Given the description of an element on the screen output the (x, y) to click on. 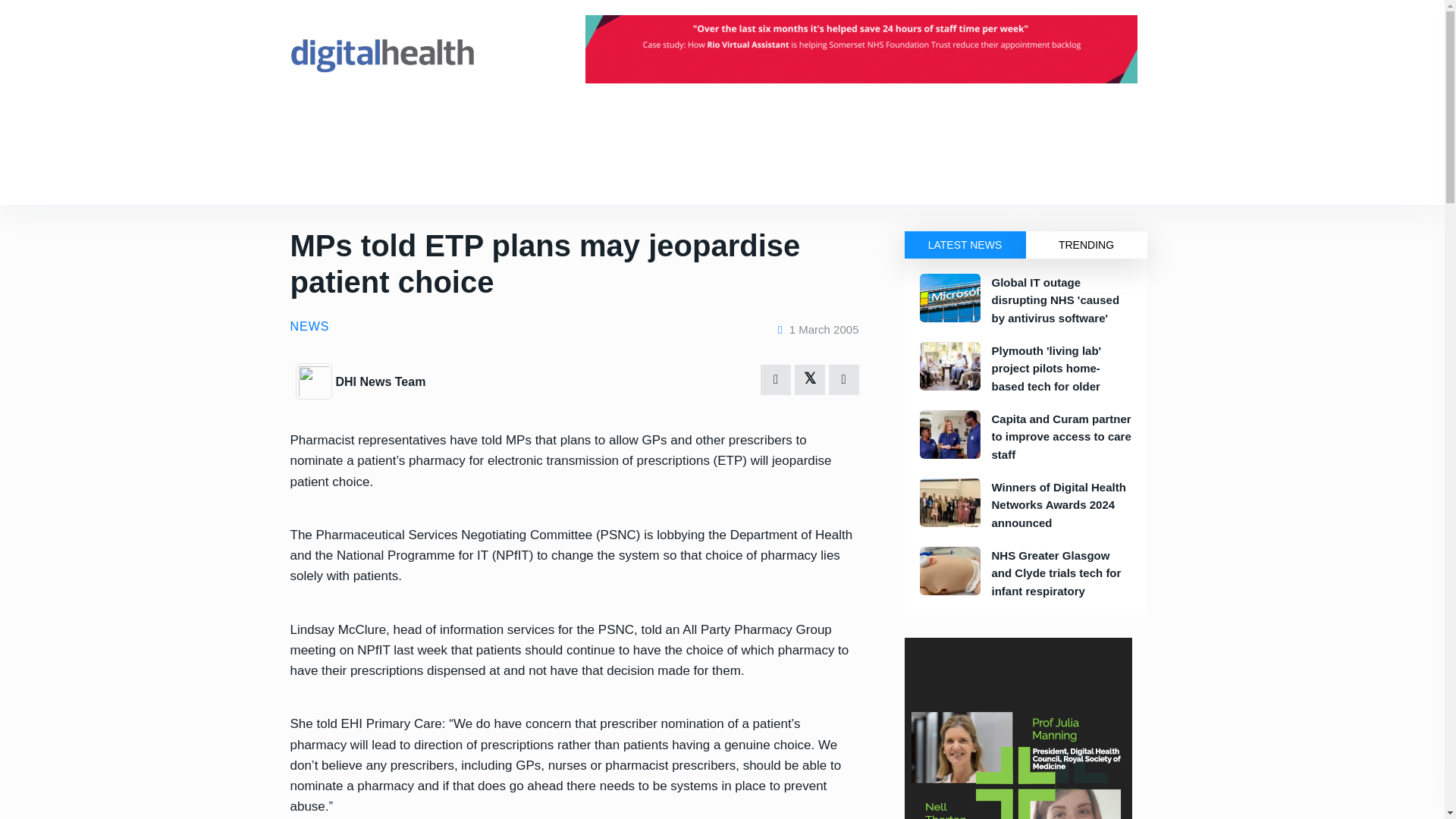
Intelligence (454, 124)
Events (390, 124)
Case Studies (431, 177)
Podcast (502, 177)
Networks (526, 124)
News (339, 124)
About Us (593, 124)
DHI News Team (379, 381)
Webinars (658, 177)
Special Reports (578, 177)
Opinion (361, 177)
Topics (305, 177)
DHI News Team (315, 379)
